Given the description of an element on the screen output the (x, y) to click on. 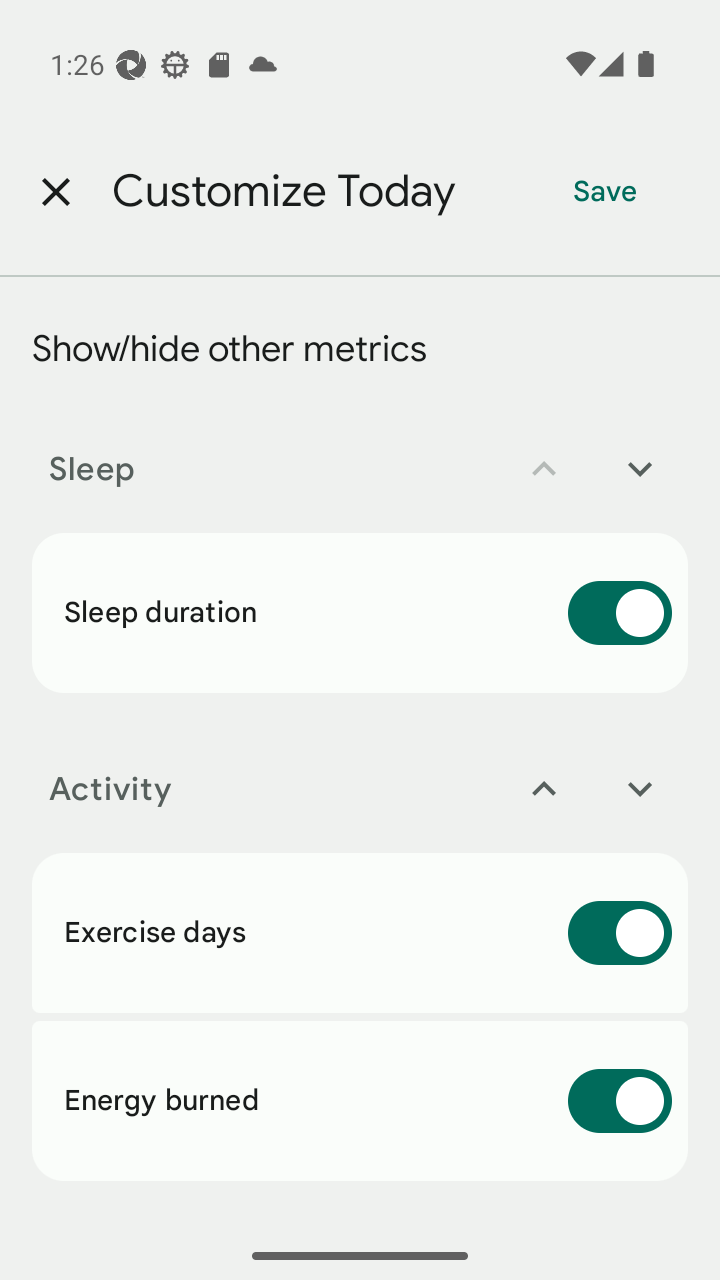
Close (55, 191)
Save (605, 191)
Move Sleep up (543, 469)
Move Sleep down (639, 469)
Sleep duration (359, 612)
Move Activity up (543, 789)
Move Activity down (639, 789)
Exercise days (359, 932)
Energy burned (359, 1101)
